Given the description of an element on the screen output the (x, y) to click on. 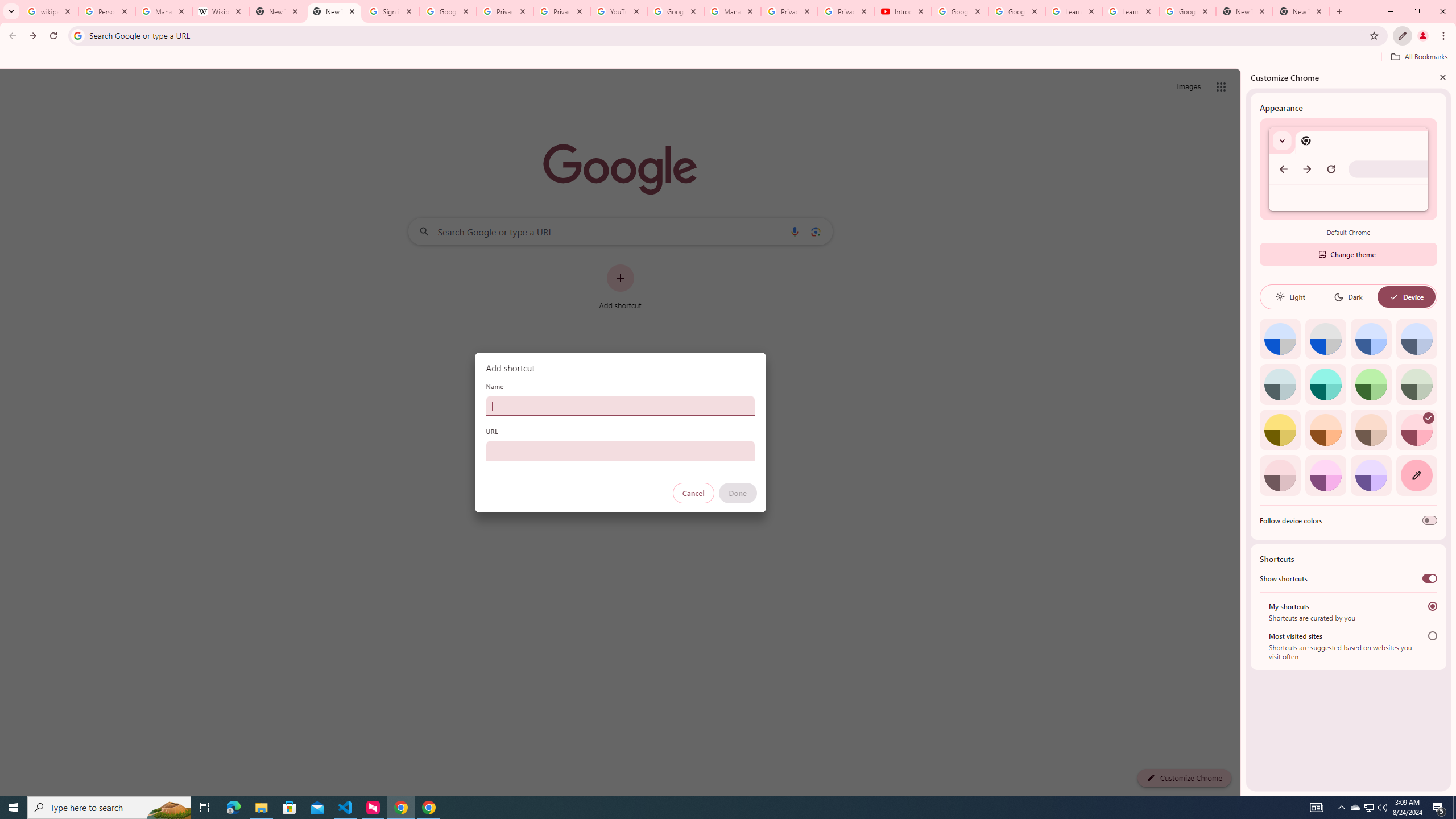
Grey (1279, 383)
Citron (1279, 429)
Dark (1348, 296)
Follow device colors (1429, 519)
Fuchsia (1325, 475)
New Tab (1244, 11)
Most visited sites (1432, 635)
Cancel (693, 493)
Change theme (1348, 254)
AutomationID: baseSvg (1394, 296)
